Given the description of an element on the screen output the (x, y) to click on. 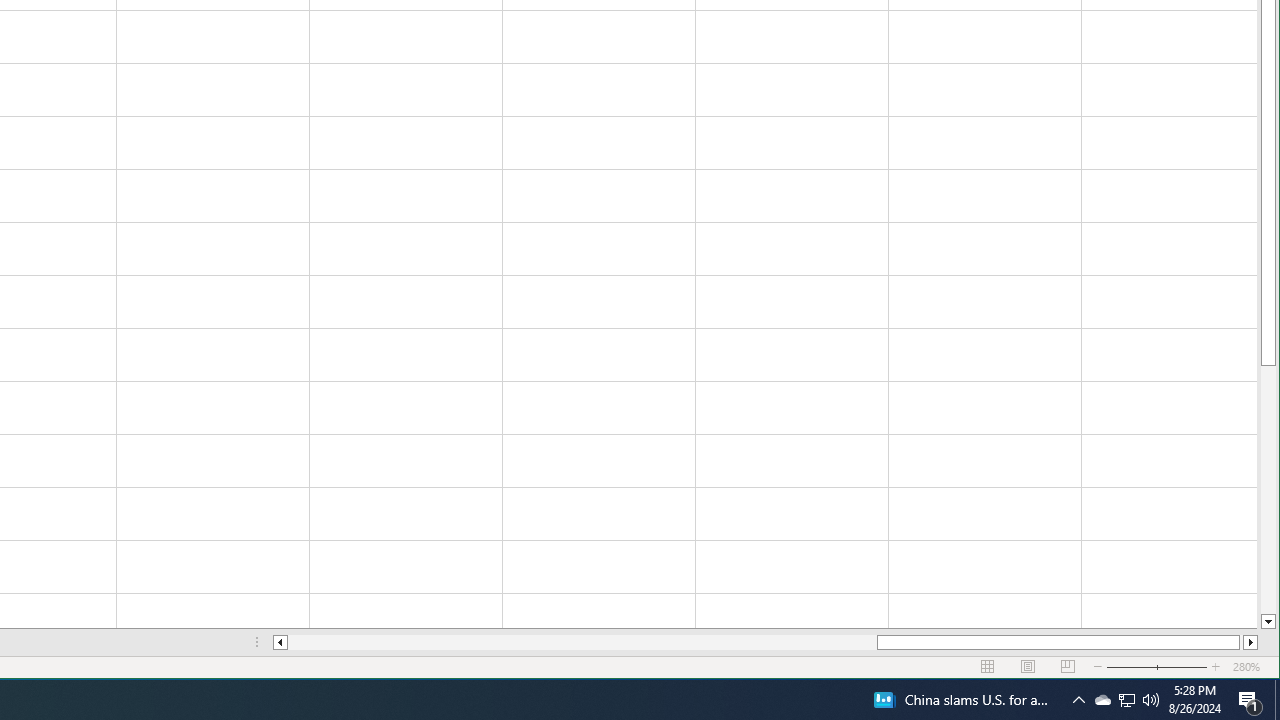
Column right (1250, 642)
Normal (987, 667)
Page down (1268, 489)
Page Break Preview (1102, 699)
